Given the description of an element on the screen output the (x, y) to click on. 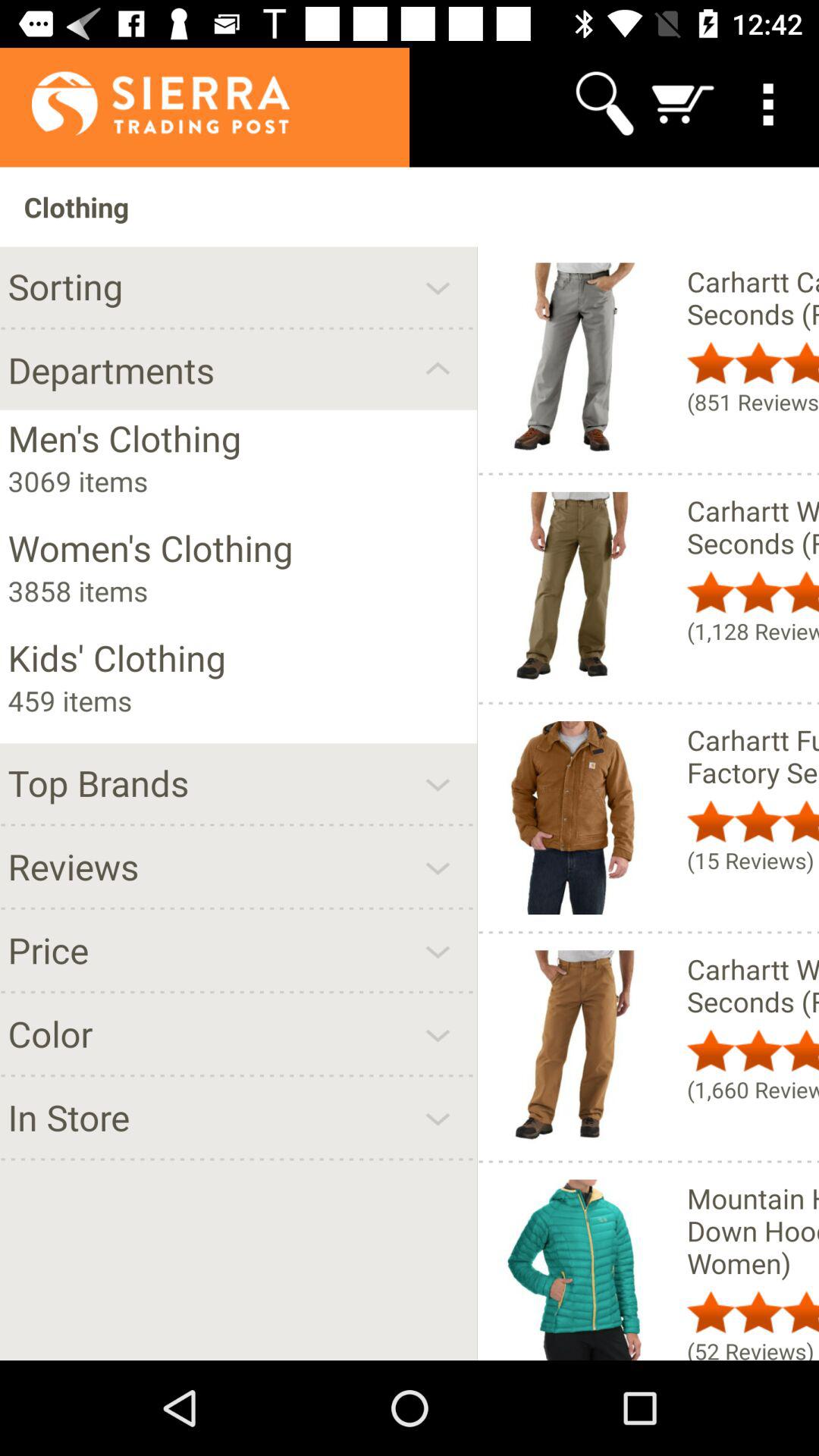
swipe until carhartt full swing (753, 756)
